Given the description of an element on the screen output the (x, y) to click on. 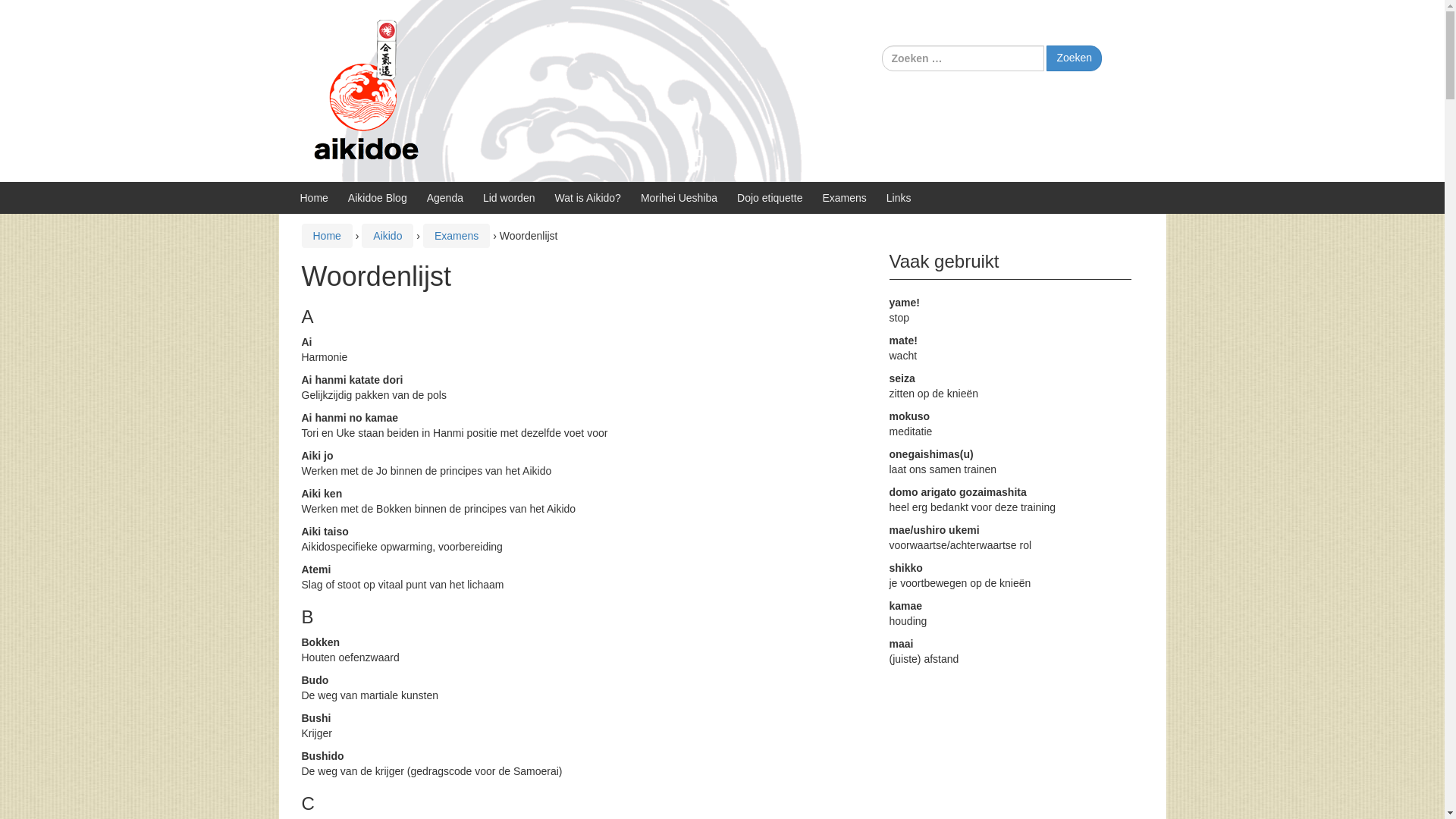
Morihei Ueshiba Element type: text (678, 197)
Zoeken Element type: text (1073, 58)
Dojo etiquette Element type: text (769, 197)
Aikido Element type: text (387, 235)
Examens Element type: text (456, 235)
Aikidoe Element type: hover (365, 90)
Agenda Element type: text (444, 197)
Wat is Aikido? Element type: text (587, 197)
Aikidoe Blog Element type: text (377, 197)
Examens Element type: text (844, 197)
Home Element type: text (326, 235)
Lid worden Element type: text (509, 197)
Links Element type: text (898, 197)
Home Element type: text (314, 197)
